Given the description of an element on the screen output the (x, y) to click on. 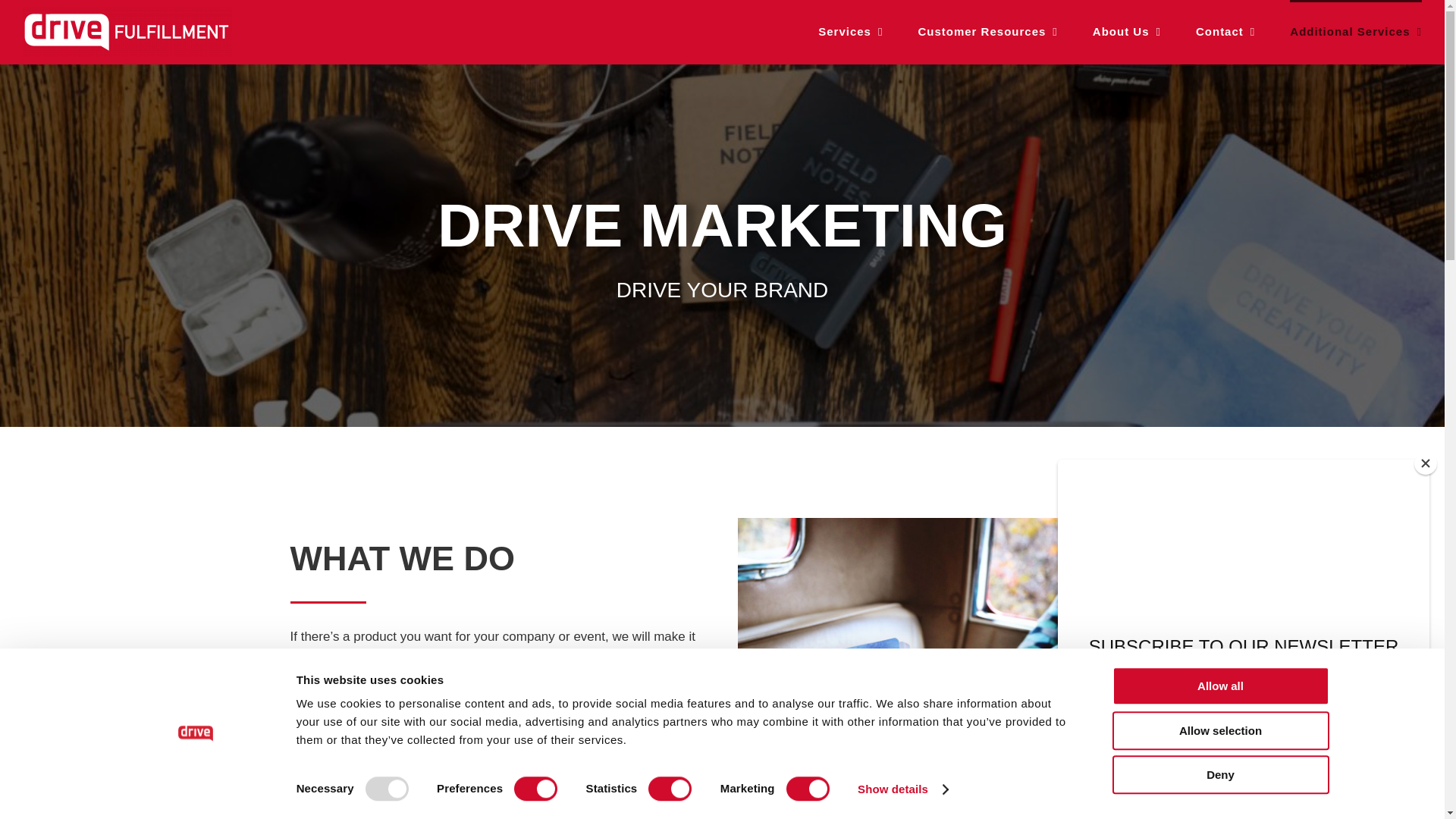
Show details (902, 789)
